Given the description of an element on the screen output the (x, y) to click on. 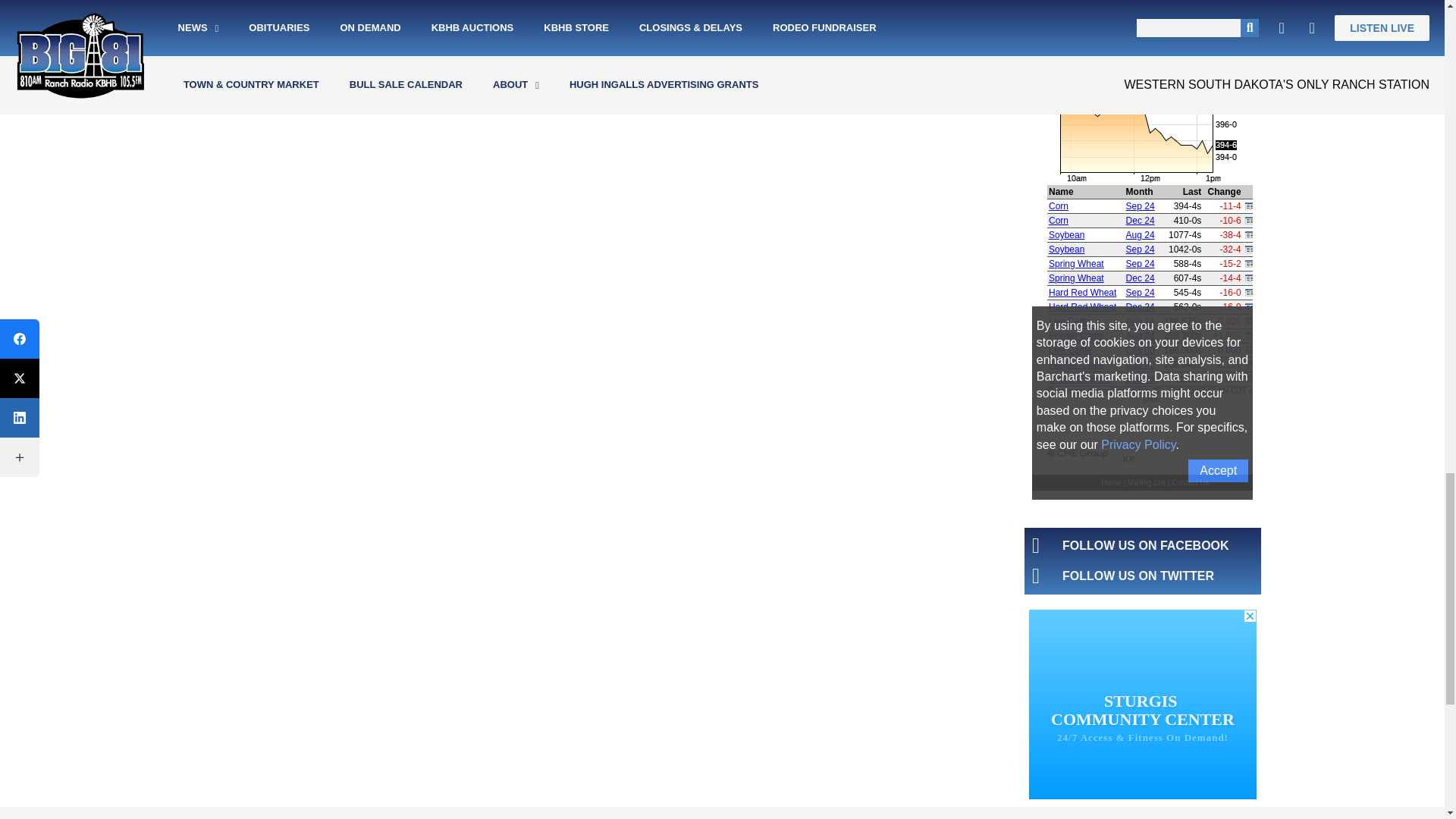
3rd party ad content (1142, 714)
